Given the description of an element on the screen output the (x, y) to click on. 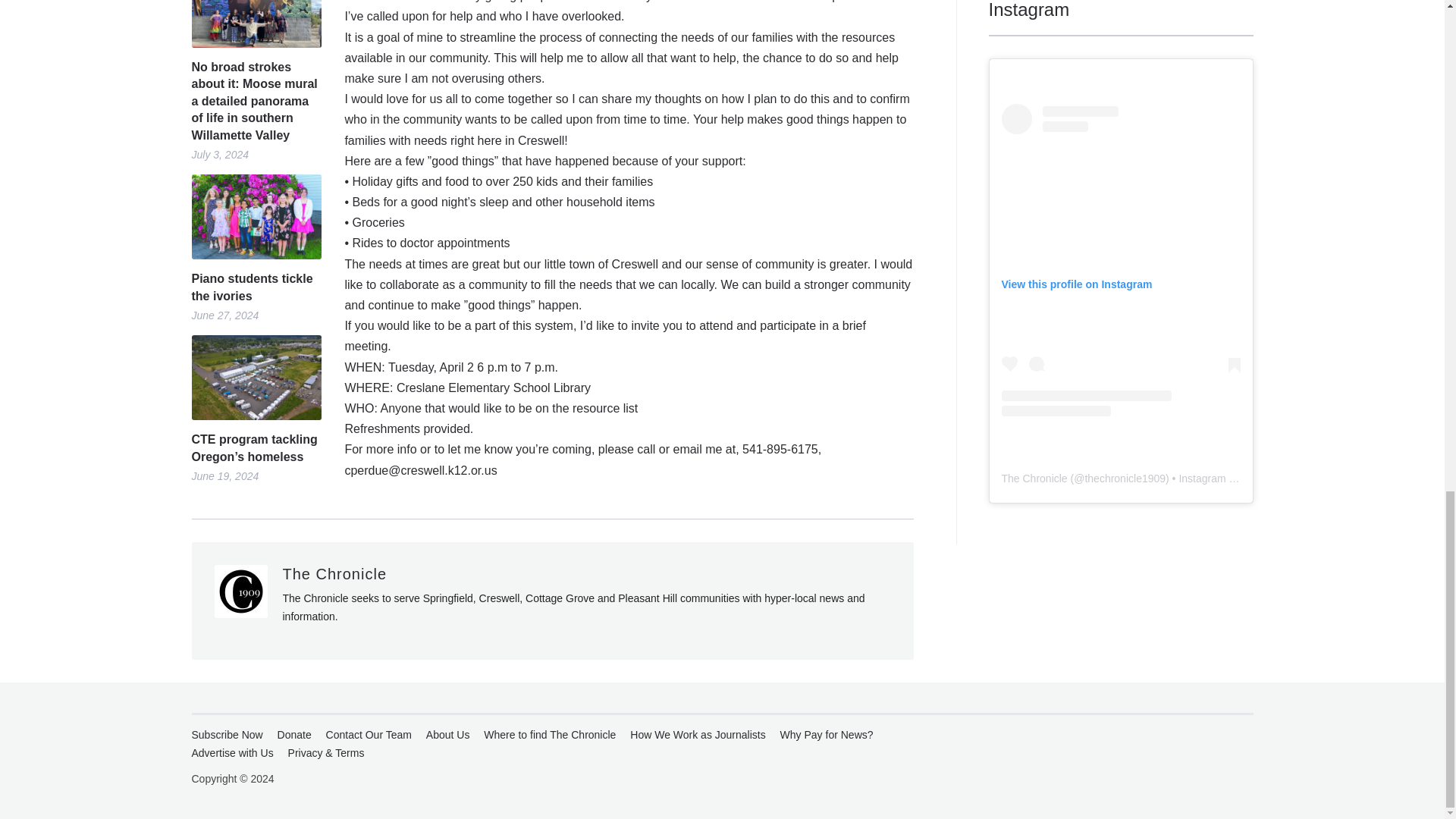
Posts by The Chronicle (334, 573)
